Given the description of an element on the screen output the (x, y) to click on. 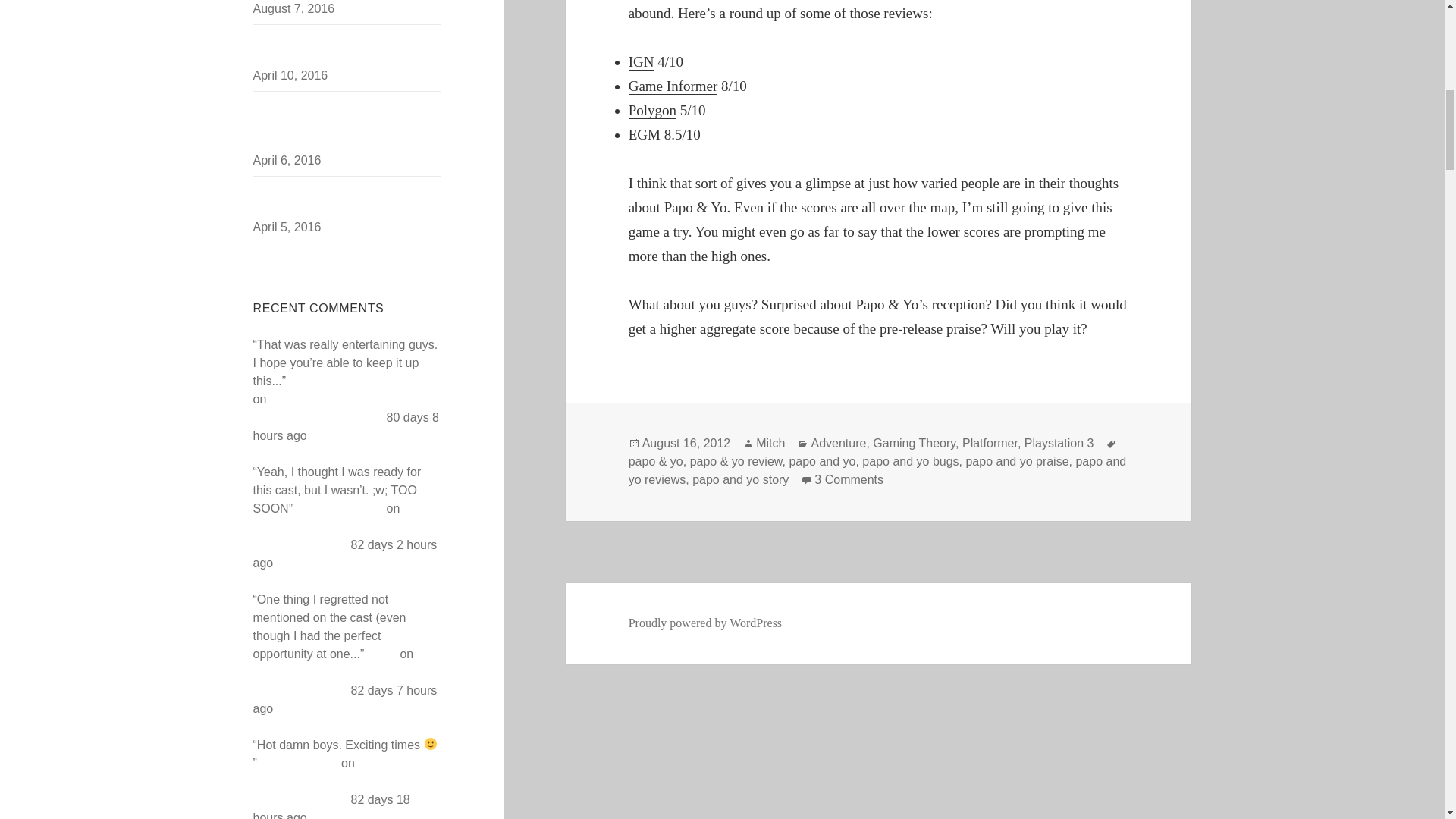
Julez Michaud (298, 762)
Sunset Overdrive Scratches That Saints Row Itch (341, 199)
Mitch (382, 653)
The Division Delivers But Only in Fits and Starts (341, 47)
The GamerSushi Show, Ep 95: Super Sushian Odyssey (344, 408)
dapurplesharpie (338, 508)
The GamerSushi Show, Ep 95: Super Sushian Odyssey (345, 671)
The GamerSushi Show, Ep 95: Super Sushian Odyssey (341, 526)
The GamerSushi Show, Ep 95: Super Sushian Odyssey (341, 780)
